Given the description of an element on the screen output the (x, y) to click on. 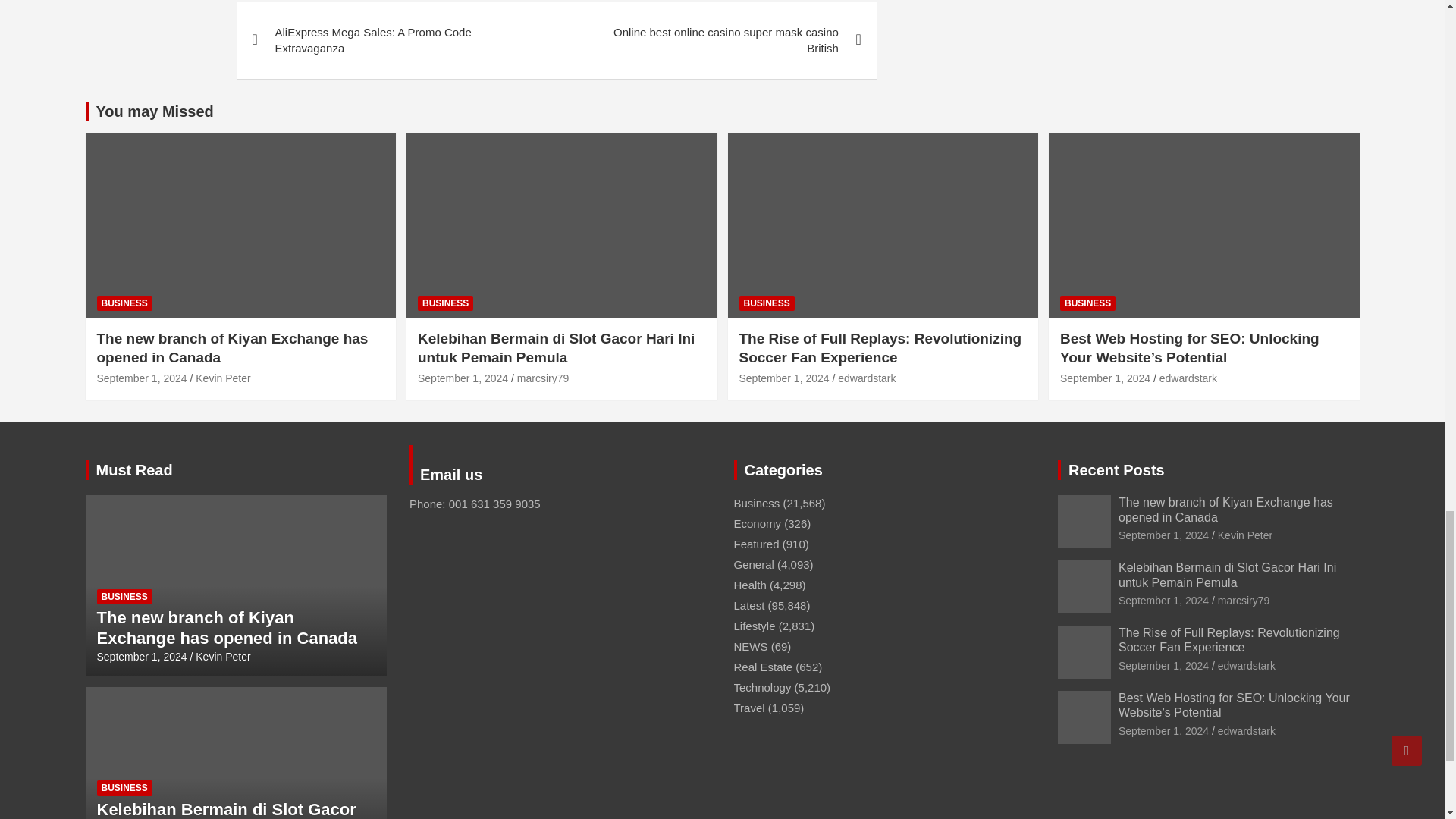
The new branch of Kiyan Exchange has opened in Canada (1163, 535)
Kelebihan Bermain di Slot Gacor Hari Ini untuk Pemain Pemula (462, 378)
Kelebihan Bermain di Slot Gacor Hari Ini untuk Pemain Pemula (1163, 600)
The new branch of Kiyan Exchange has opened in Canada (142, 378)
The new branch of Kiyan Exchange has opened in Canada (142, 656)
Online best online casino super mask casino British (716, 39)
AliExpress Mega Sales: A Promo Code Extravaganza (395, 39)
